Given the description of an element on the screen output the (x, y) to click on. 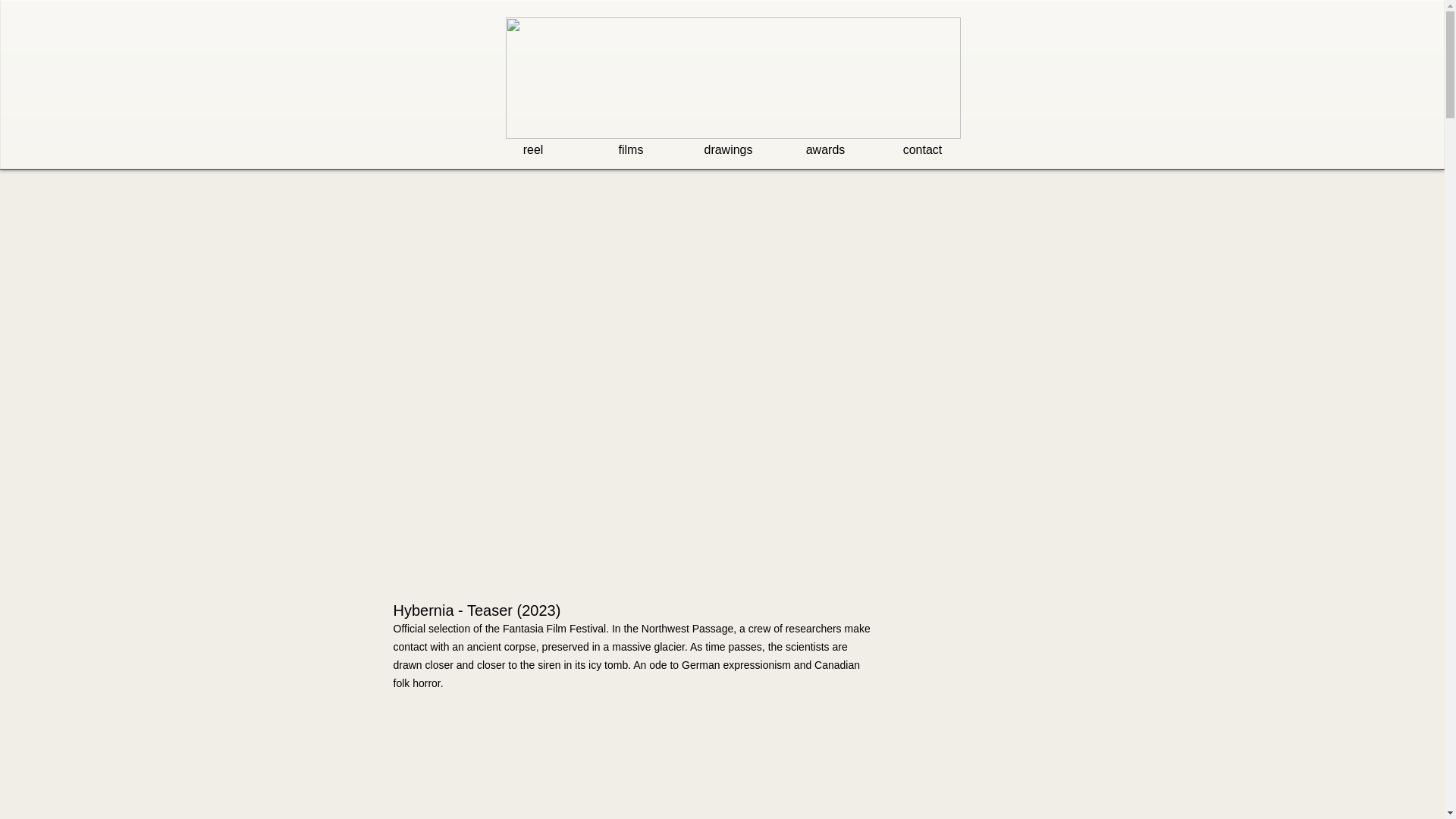
contact (922, 149)
films (630, 149)
drawings (727, 149)
reel (531, 149)
awards (824, 149)
